Given the description of an element on the screen output the (x, y) to click on. 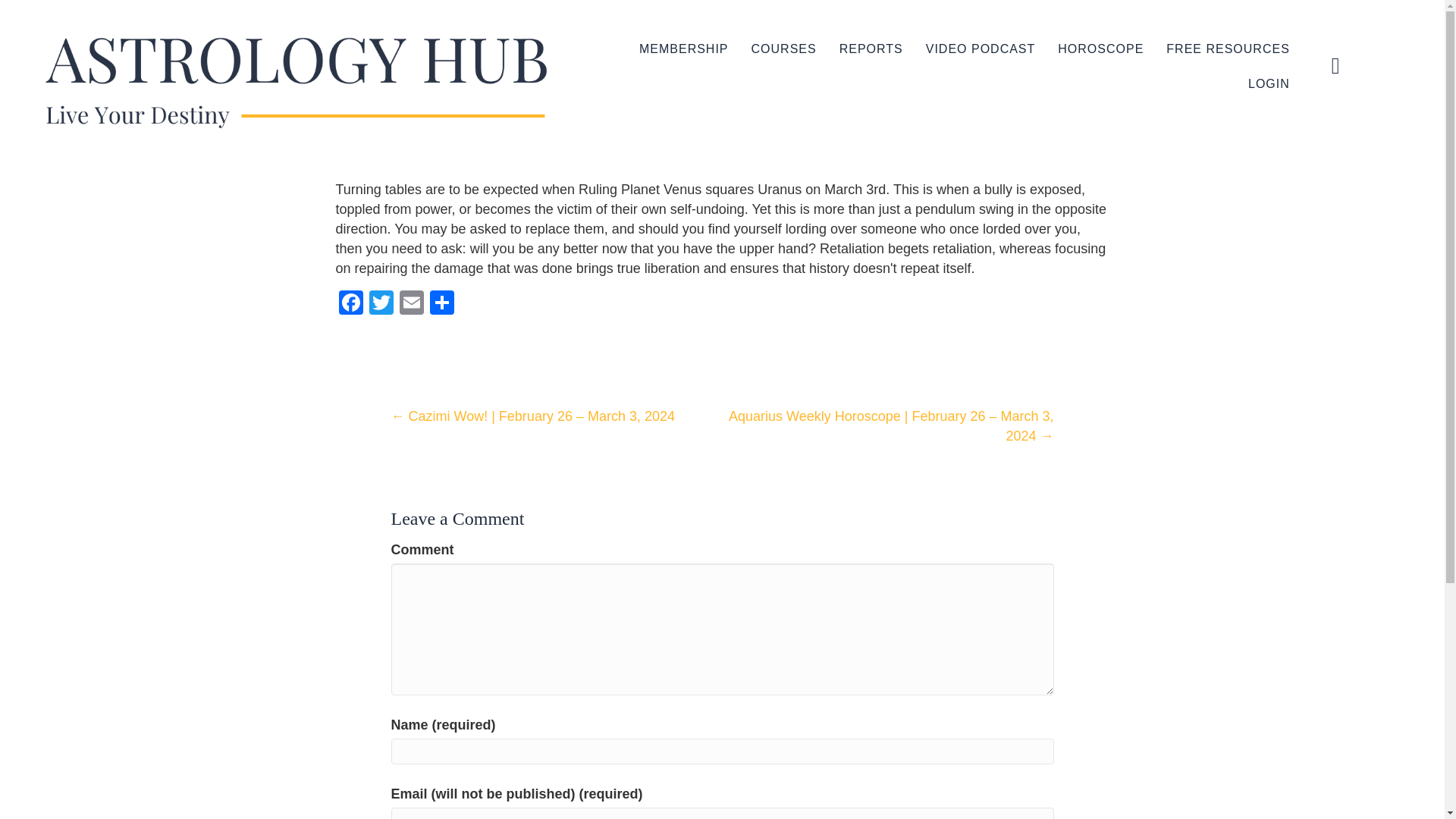
MEMBERSHIP (683, 49)
VIDEO PODCAST (980, 49)
HOROSCOPE (1100, 49)
COURSES (784, 49)
REPORTS (871, 49)
